Given the description of an element on the screen output the (x, y) to click on. 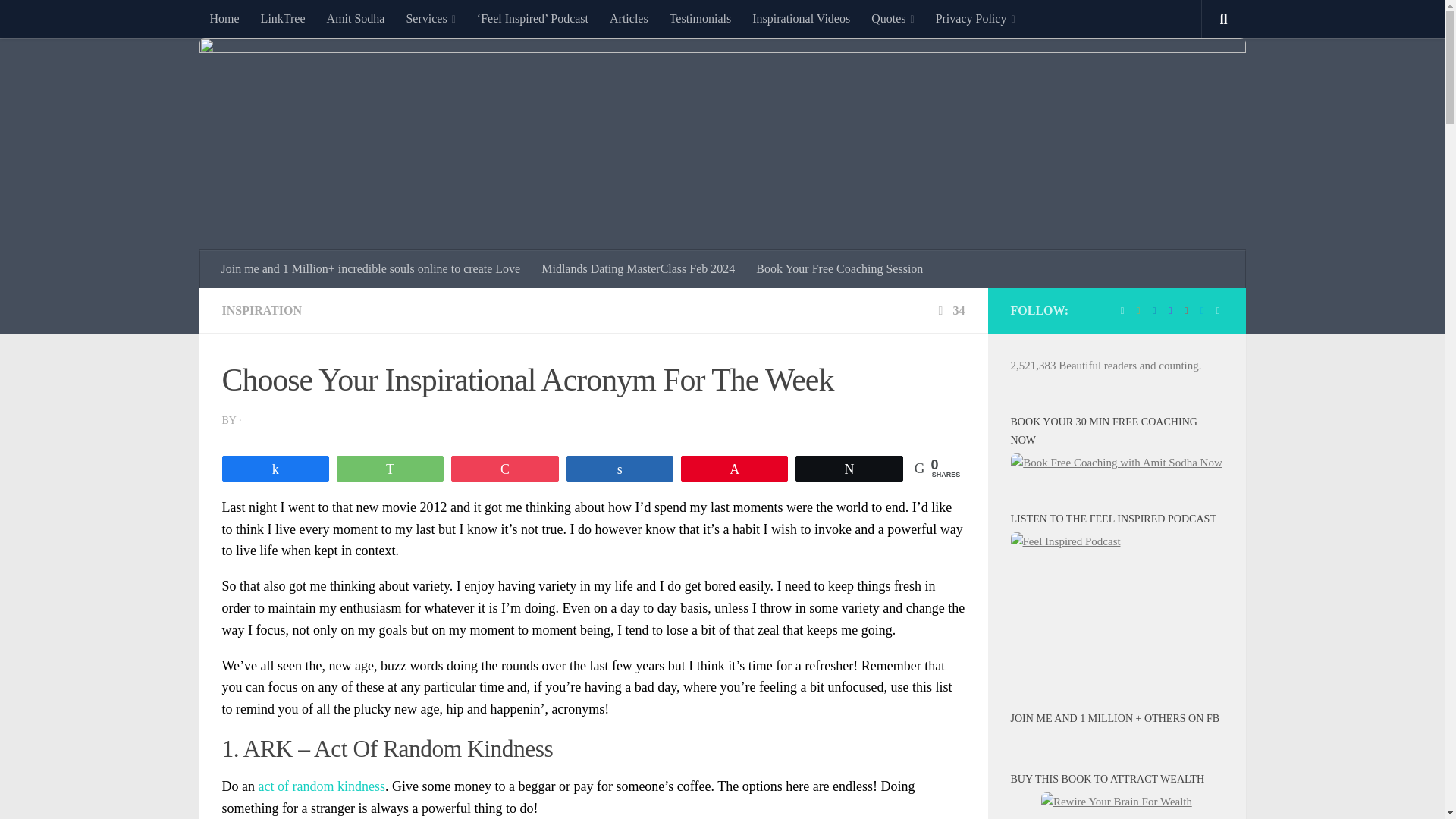
Inspirational Videos (800, 18)
Quotes (892, 18)
Services (429, 18)
Feel Inspired (531, 18)
Testimonials (700, 18)
Dating Masterclass (638, 269)
LinkTree (282, 18)
Privacy Policy (975, 18)
Home (223, 18)
Amit Sodha (355, 18)
